Given the description of an element on the screen output the (x, y) to click on. 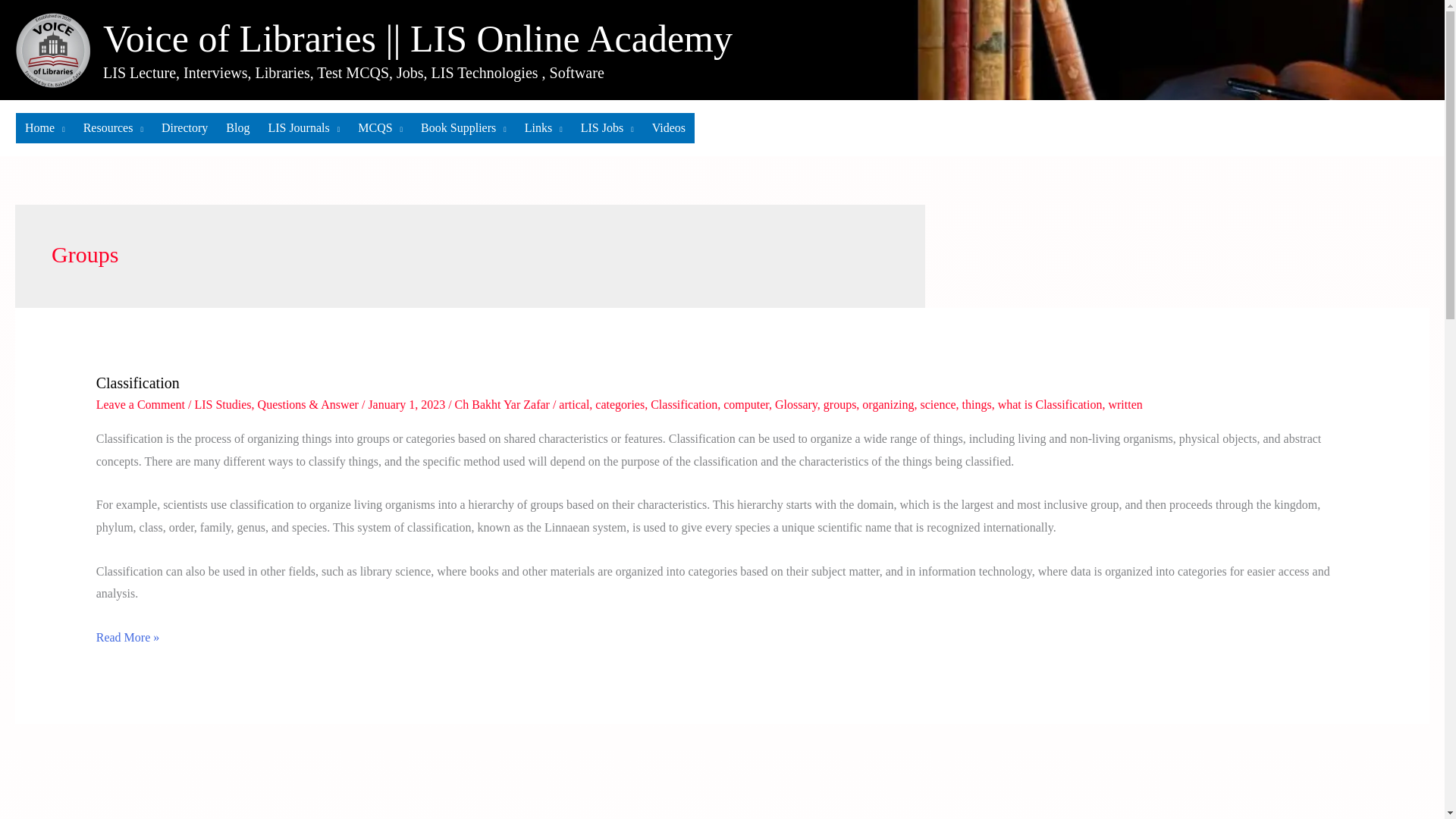
Blog (237, 128)
Directory (184, 128)
Links (543, 128)
Home (45, 128)
MCQS (380, 128)
Resources (113, 128)
Book Suppliers (463, 128)
View all posts by Ch Bakht Yar Zafar (503, 404)
LIS Journals (304, 128)
